Given the description of an element on the screen output the (x, y) to click on. 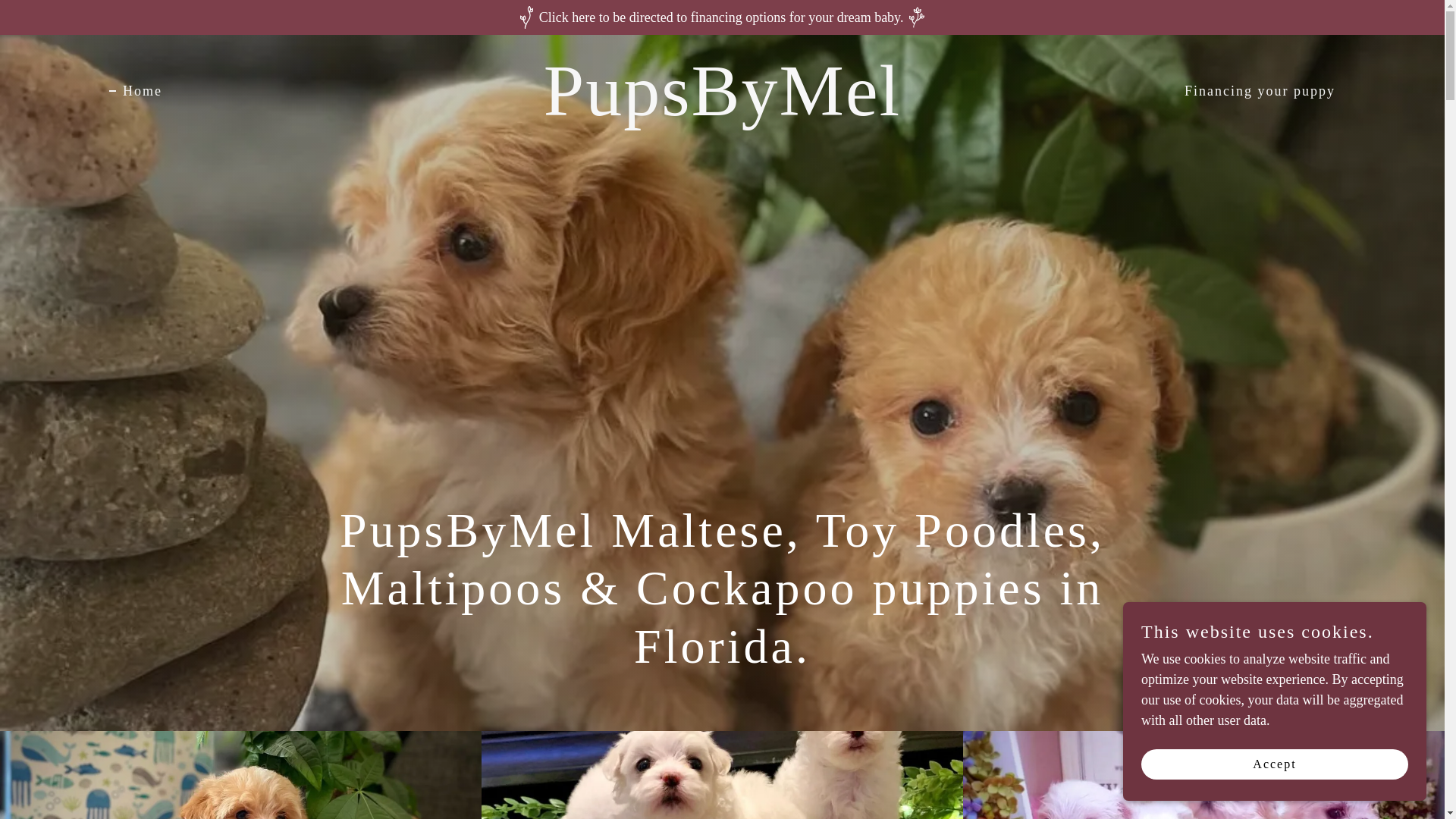
PupsByMel (722, 110)
Financing your puppy (1252, 90)
Accept (1274, 764)
Home (135, 90)
PupsByMel (722, 110)
